Given the description of an element on the screen output the (x, y) to click on. 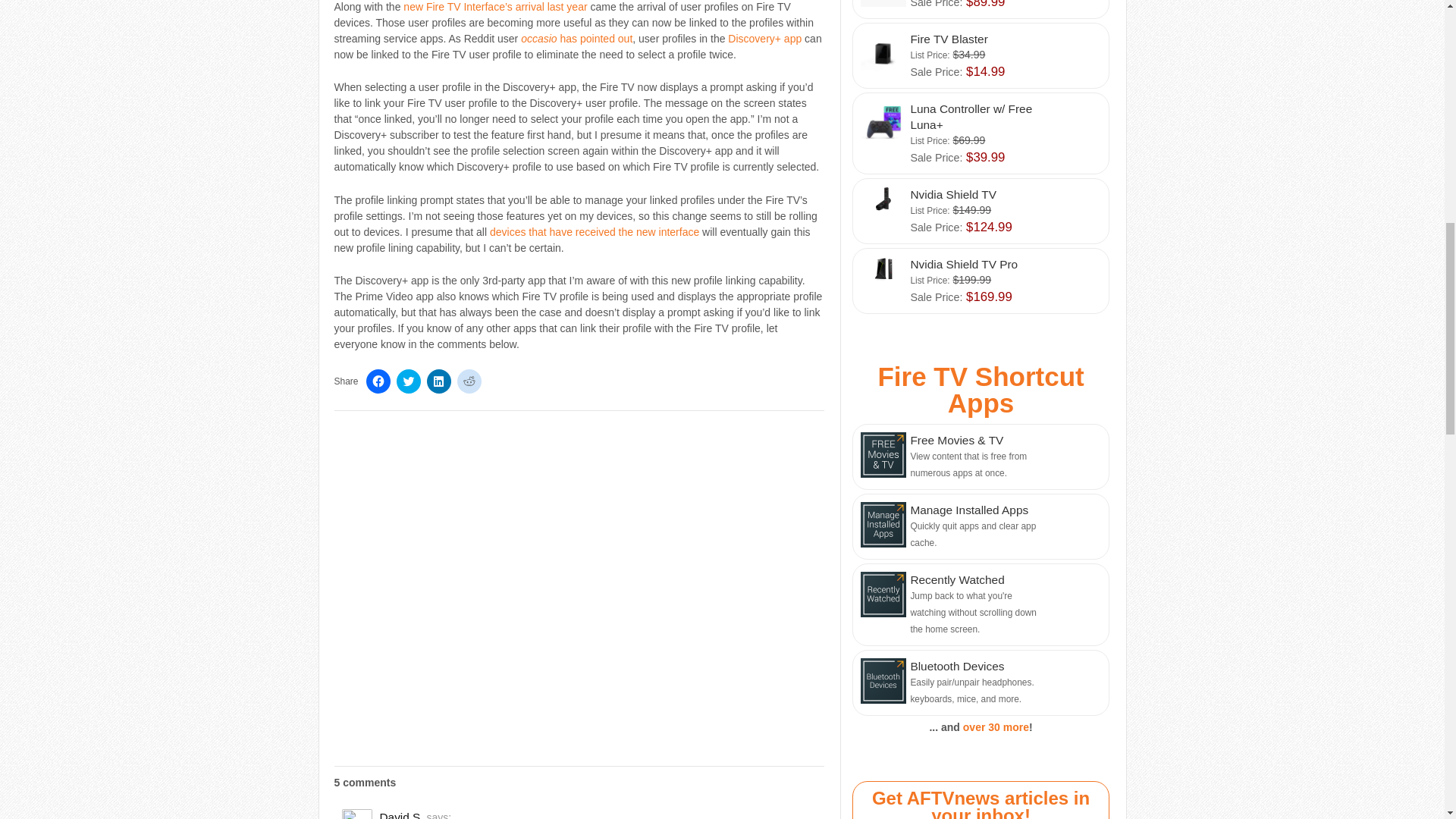
Fire TV Blaster (979, 55)
occasio has pointed out (576, 38)
Click to share on Reddit (469, 381)
devices that have received the new interface (593, 232)
Click to share on LinkedIn (438, 381)
Click to share on Twitter (408, 381)
Click to share on Facebook (378, 381)
Fire TV Soundbar (979, 9)
